Given the description of an element on the screen output the (x, y) to click on. 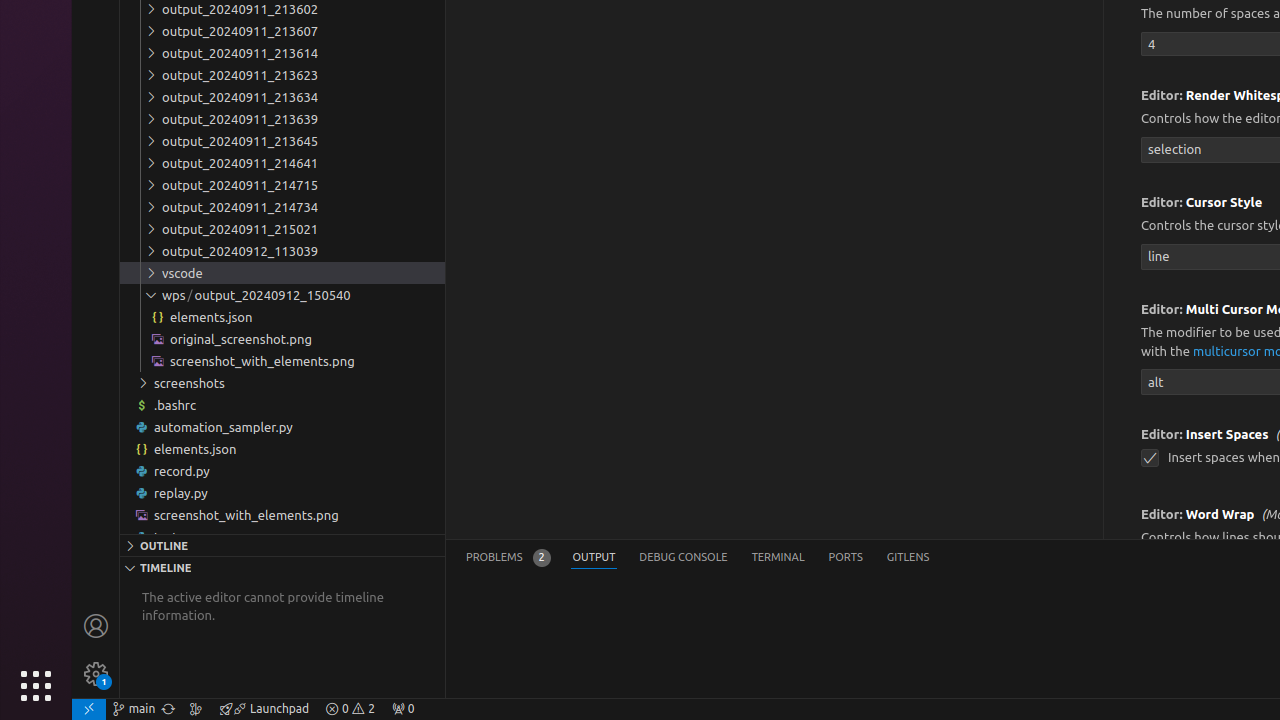
Active View Switcher Element type: page-tab-list (698, 557)
Manage - New Code update available. Element type: push-button (96, 674)
output_20240911_213623 Element type: tree-item (282, 75)
Terminal (Ctrl+`) Element type: page-tab (778, 557)
Timeline Section Element type: push-button (282, 567)
